Given the description of an element on the screen output the (x, y) to click on. 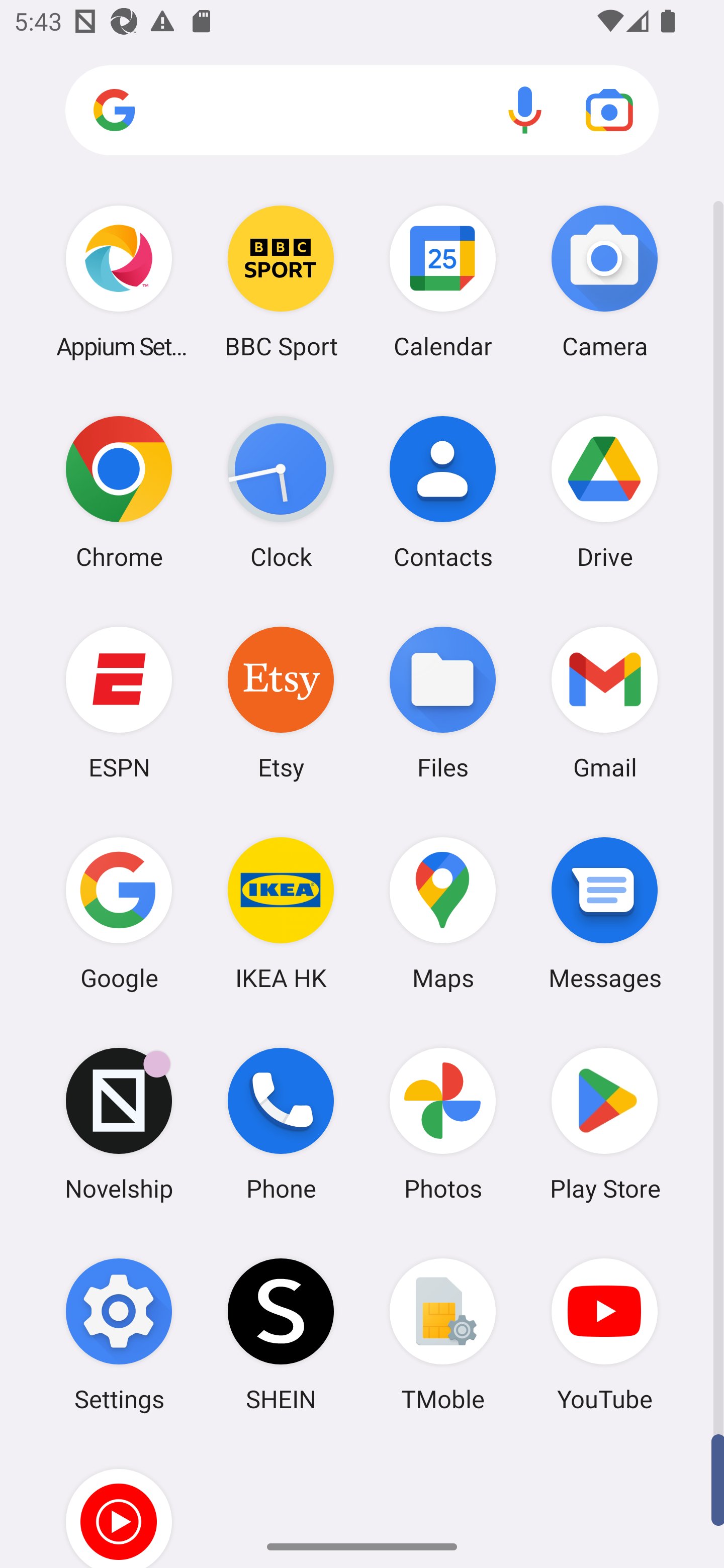
Search apps, web and more (361, 110)
Voice search (524, 109)
Google Lens (608, 109)
Appium Settings (118, 281)
BBC Sport (280, 281)
Calendar (443, 281)
Camera (604, 281)
Chrome (118, 492)
Clock (280, 492)
Contacts (443, 492)
Drive (604, 492)
ESPN (118, 702)
Etsy (280, 702)
Files (443, 702)
Gmail (604, 702)
Google (118, 913)
IKEA HK (280, 913)
Maps (443, 913)
Messages (604, 913)
Novelship Novelship has 1 notification (118, 1124)
Phone (280, 1124)
Photos (443, 1124)
Play Store (604, 1124)
Settings (118, 1334)
SHEIN (280, 1334)
TMoble (443, 1334)
YouTube (604, 1334)
YT Music (118, 1503)
